Given the description of an element on the screen output the (x, y) to click on. 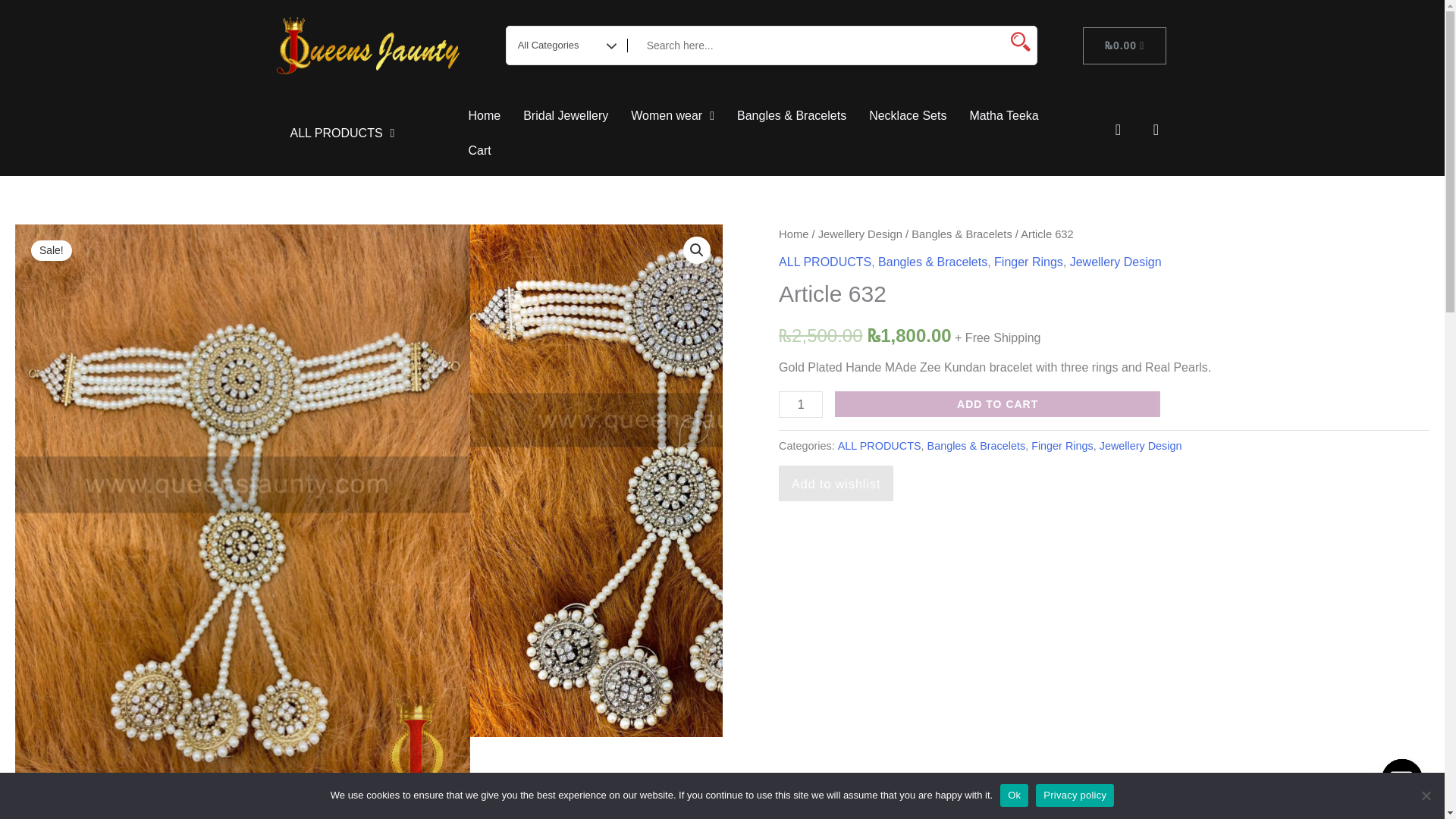
Women wear (672, 115)
Cart (479, 150)
No (1425, 795)
Bridal Jewellery (566, 115)
Home (484, 115)
1 (800, 404)
Necklace Sets (907, 115)
ALL PRODUCTS (342, 133)
Matha Teeka (1003, 115)
